Given the description of an element on the screen output the (x, y) to click on. 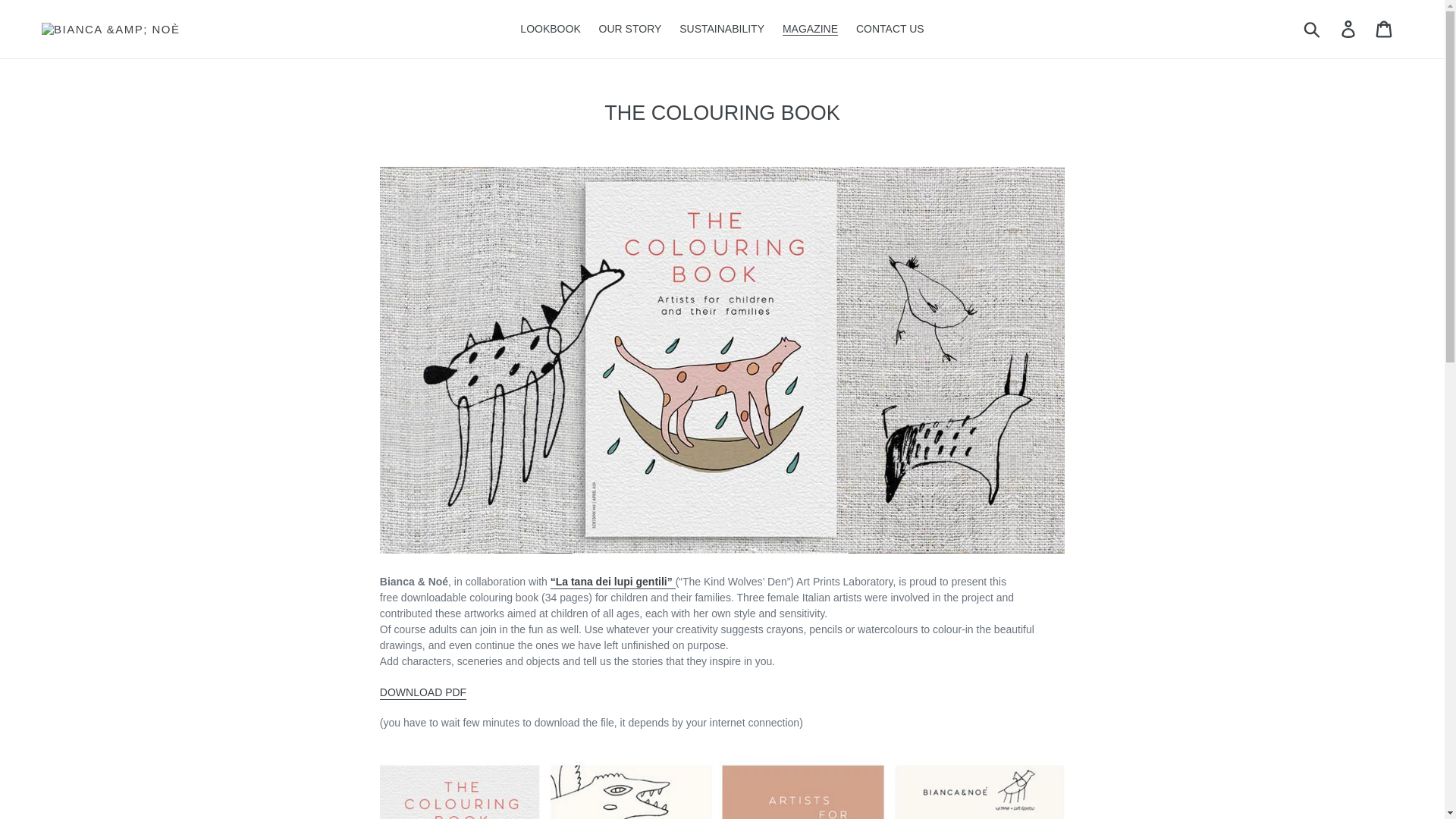
SUSTAINABILITY (721, 28)
CONTACT US (889, 28)
OUR STORY (630, 28)
LOOKBOOK (550, 28)
MAGAZINE (809, 28)
La tana dei Lupi gentili (612, 581)
Cart (1385, 29)
DOWNLOAD PDF (422, 693)
Submit (1313, 28)
Log in (1349, 29)
